Given the description of an element on the screen output the (x, y) to click on. 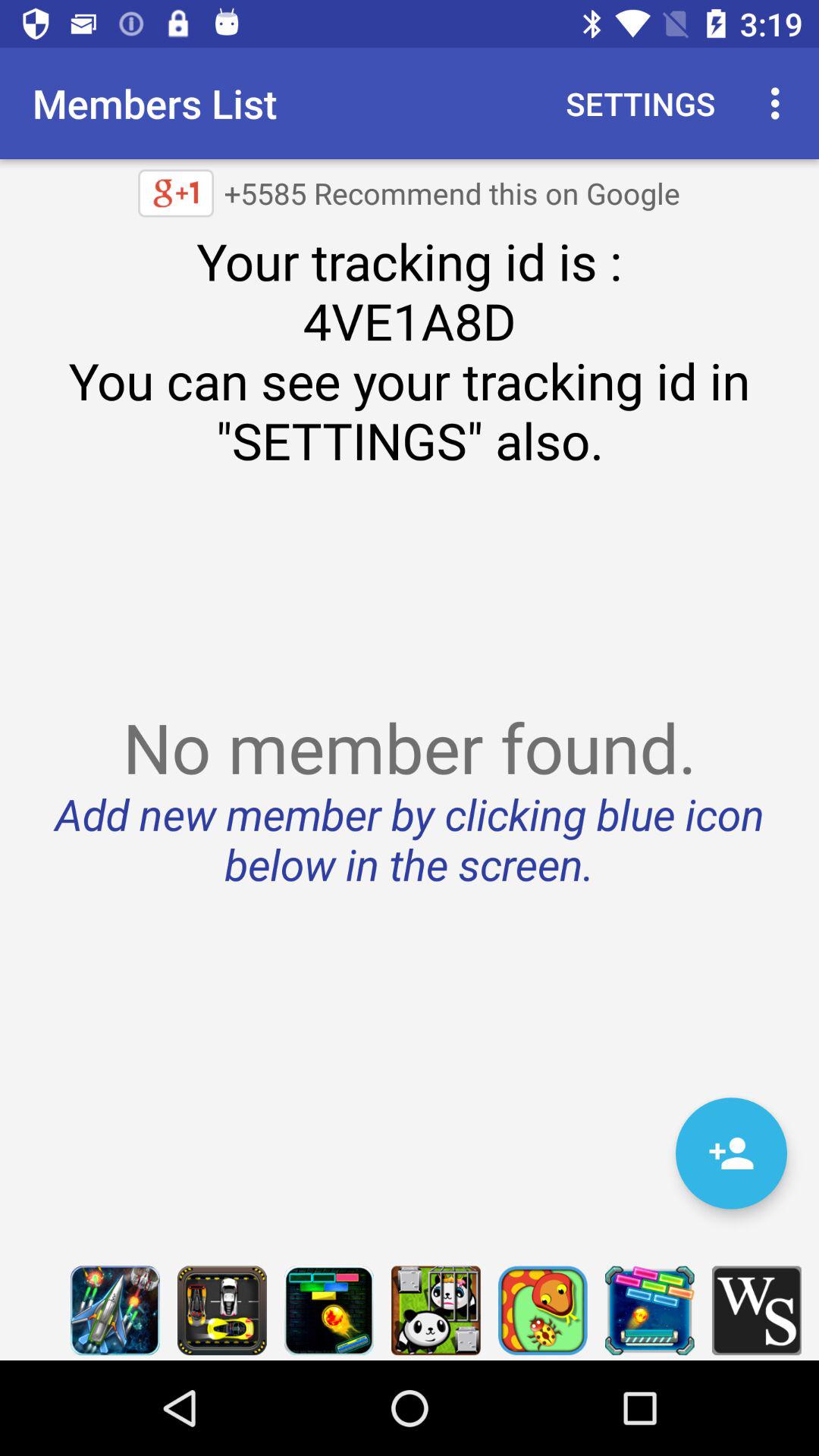
add new member (731, 1153)
